Given the description of an element on the screen output the (x, y) to click on. 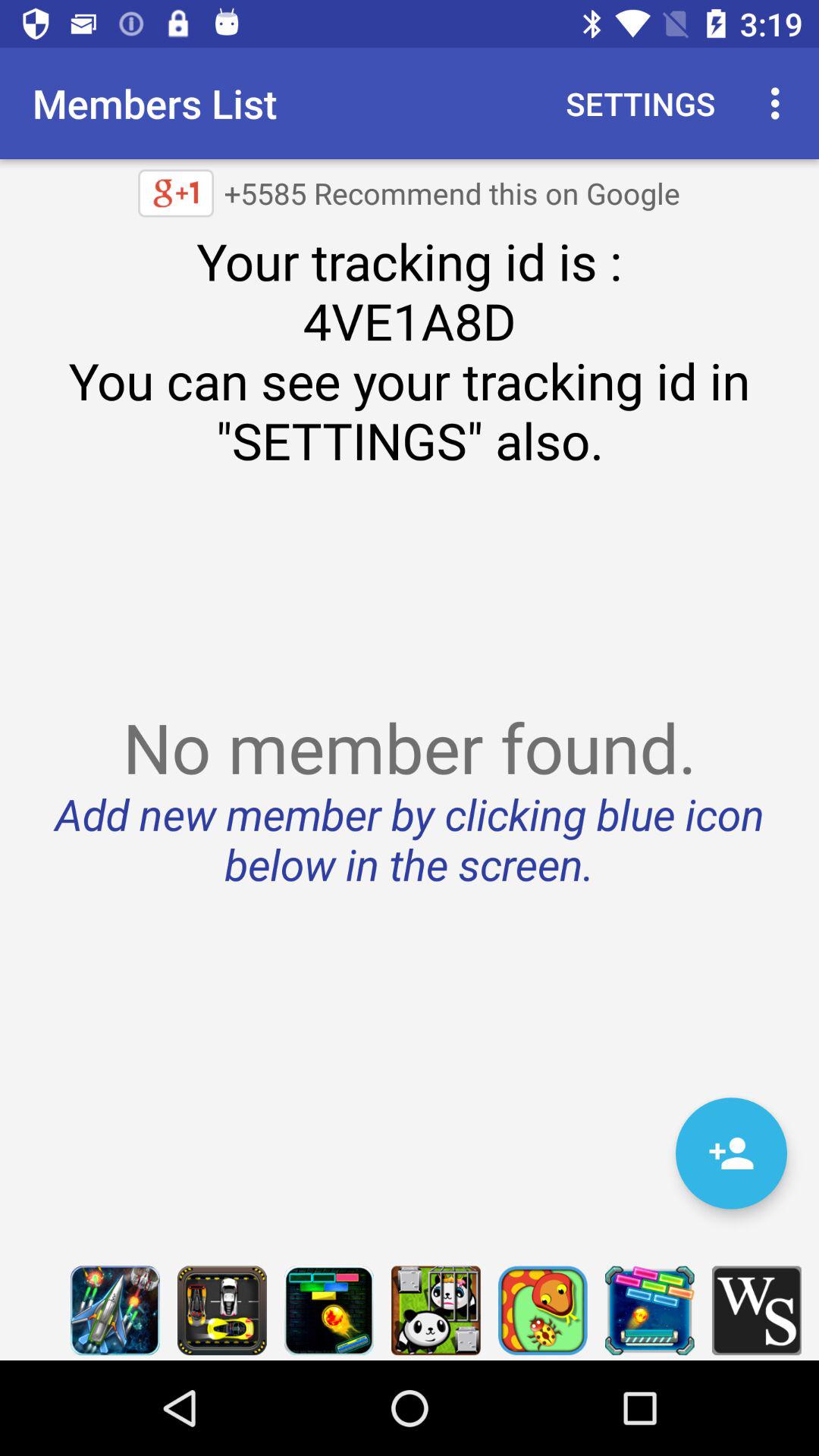
add new member (731, 1153)
